Given the description of an element on the screen output the (x, y) to click on. 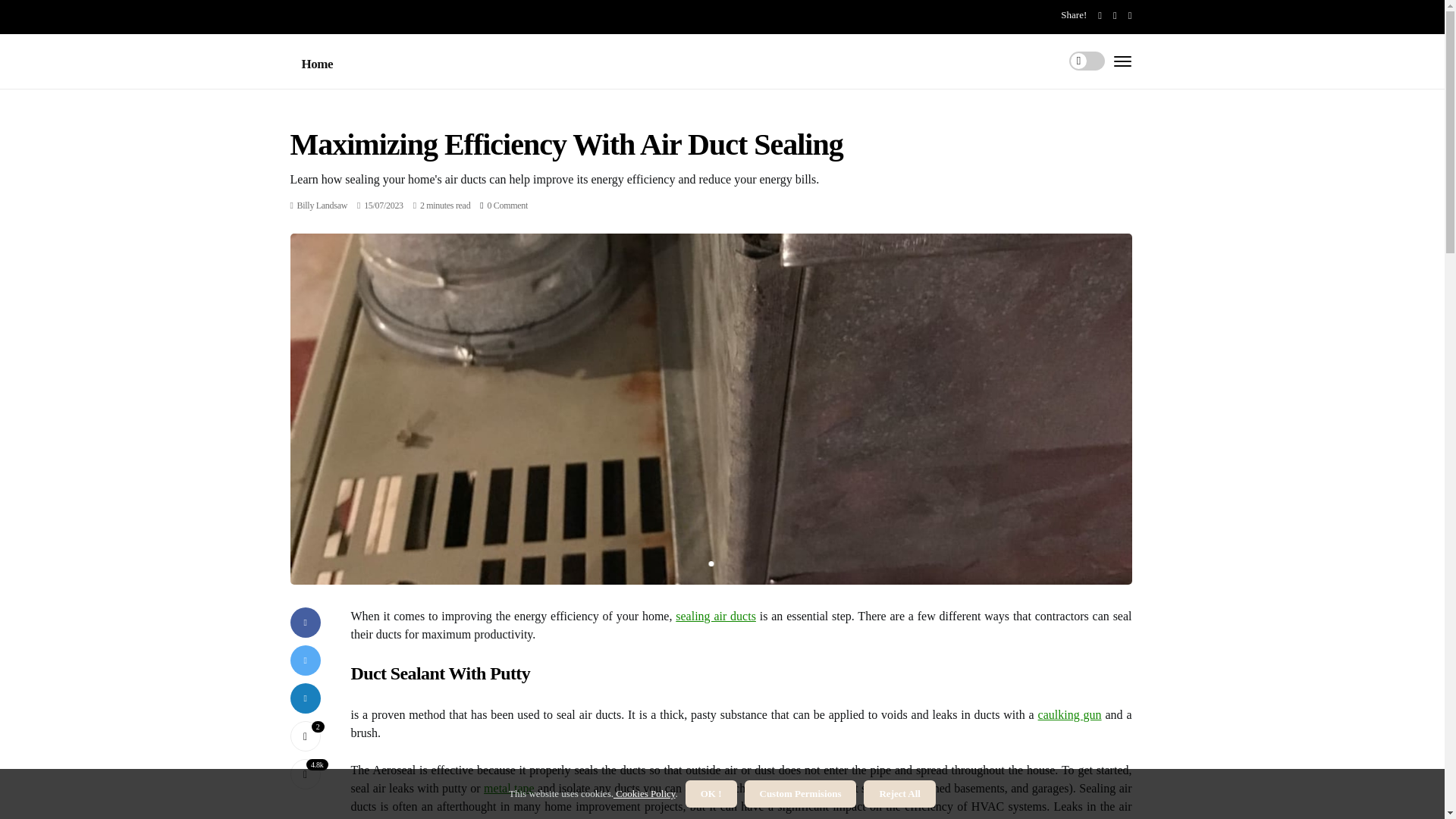
Billy Landsaw (322, 204)
sealing air ducts (715, 615)
caulking gun (1070, 714)
Posts by Billy Landsaw (322, 204)
2 (304, 736)
metal tape (508, 788)
1 (710, 563)
0 Comment (506, 204)
Like (304, 736)
